Given the description of an element on the screen output the (x, y) to click on. 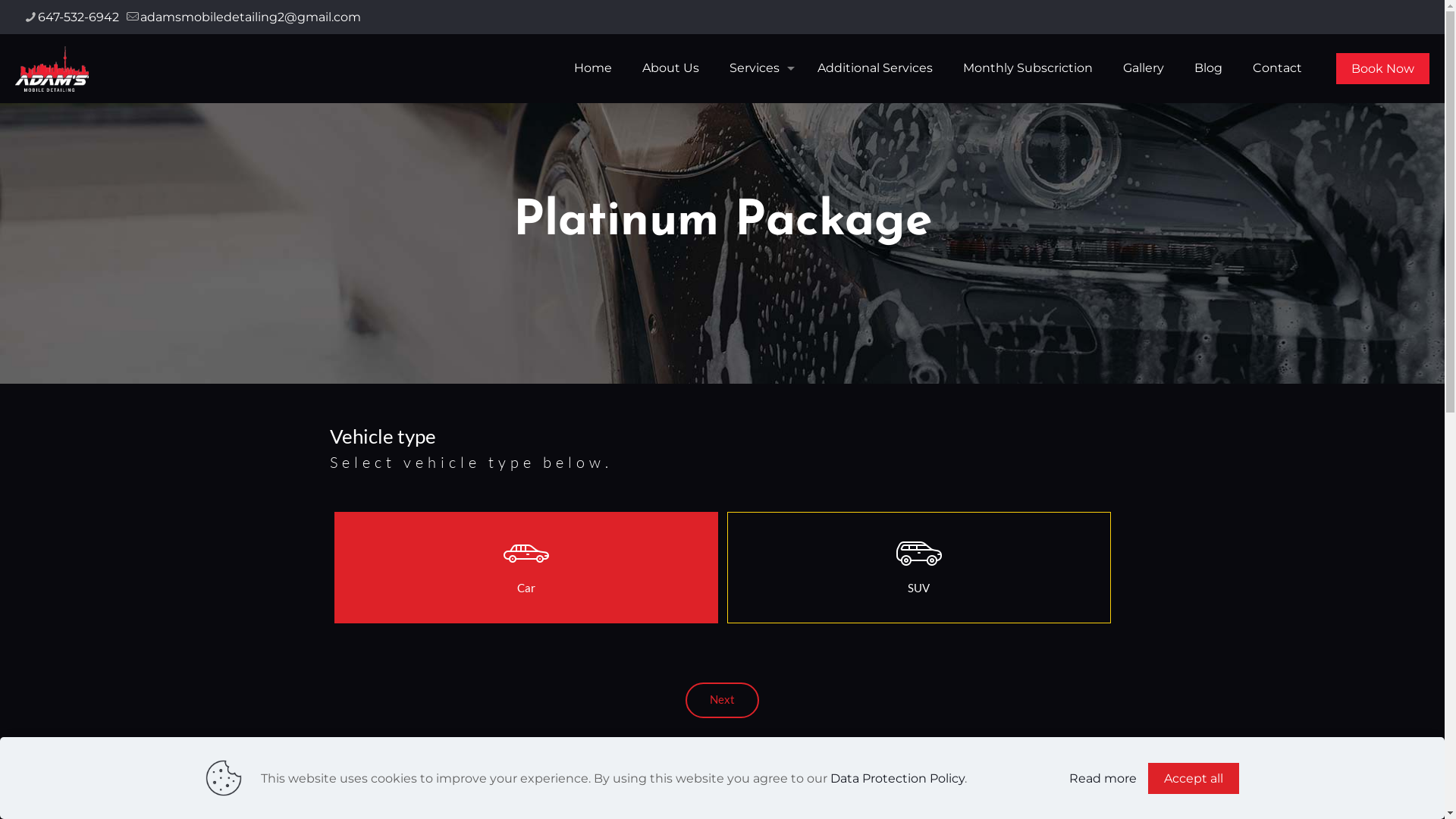
Monthly Subscriction Element type: text (1027, 68)
Next Element type: text (722, 700)
Gallery Element type: text (1143, 68)
Read more Element type: text (1102, 777)
Book Now Element type: text (1382, 68)
Adams  Element type: hover (51, 68)
647-532-6942 Element type: text (78, 16)
Data Protection Policy Element type: text (897, 777)
Blog Element type: text (1208, 68)
adamsmobiledetailing2@gmail.com Element type: text (250, 16)
Home Element type: text (592, 68)
Contact Element type: text (1277, 68)
About Us Element type: text (670, 68)
Accept all Element type: text (1193, 777)
Services Element type: text (758, 68)
Additional Services Element type: text (874, 68)
